Given the description of an element on the screen output the (x, y) to click on. 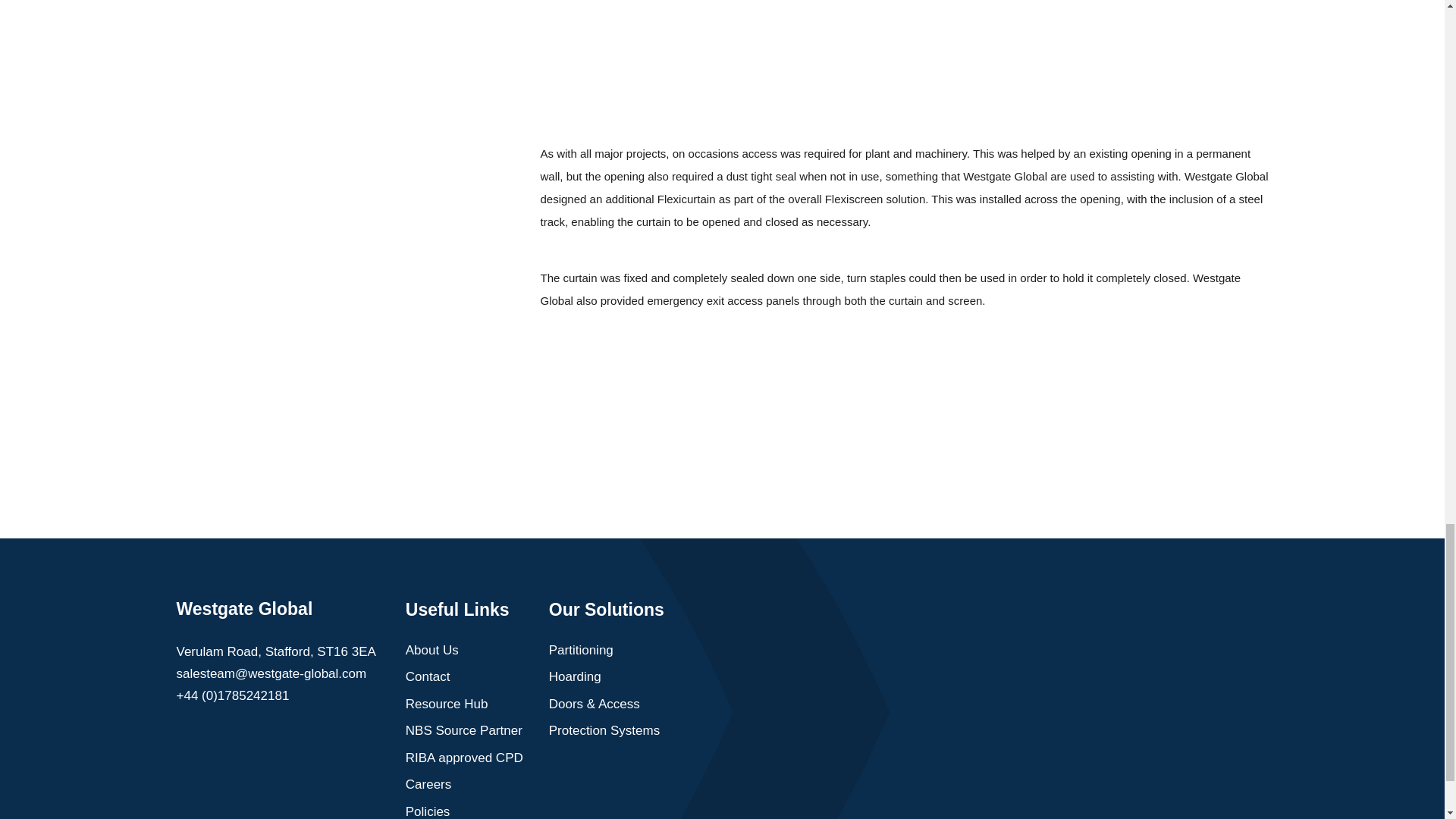
Facebook (213, 740)
Linkedin (184, 740)
Youtube (269, 740)
Twitter (239, 740)
